Given the description of an element on the screen output the (x, y) to click on. 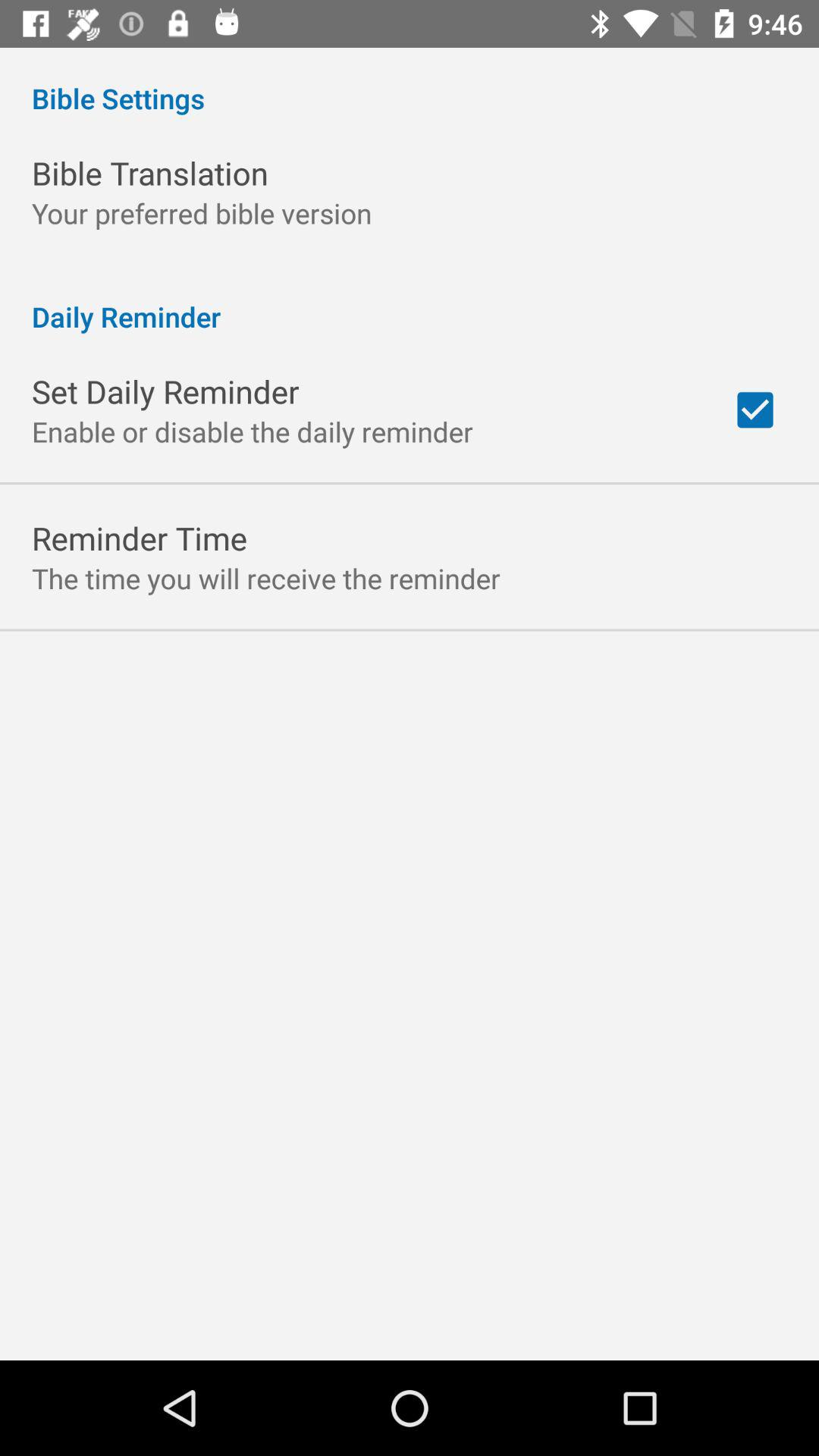
flip to bible settings app (409, 82)
